Given the description of an element on the screen output the (x, y) to click on. 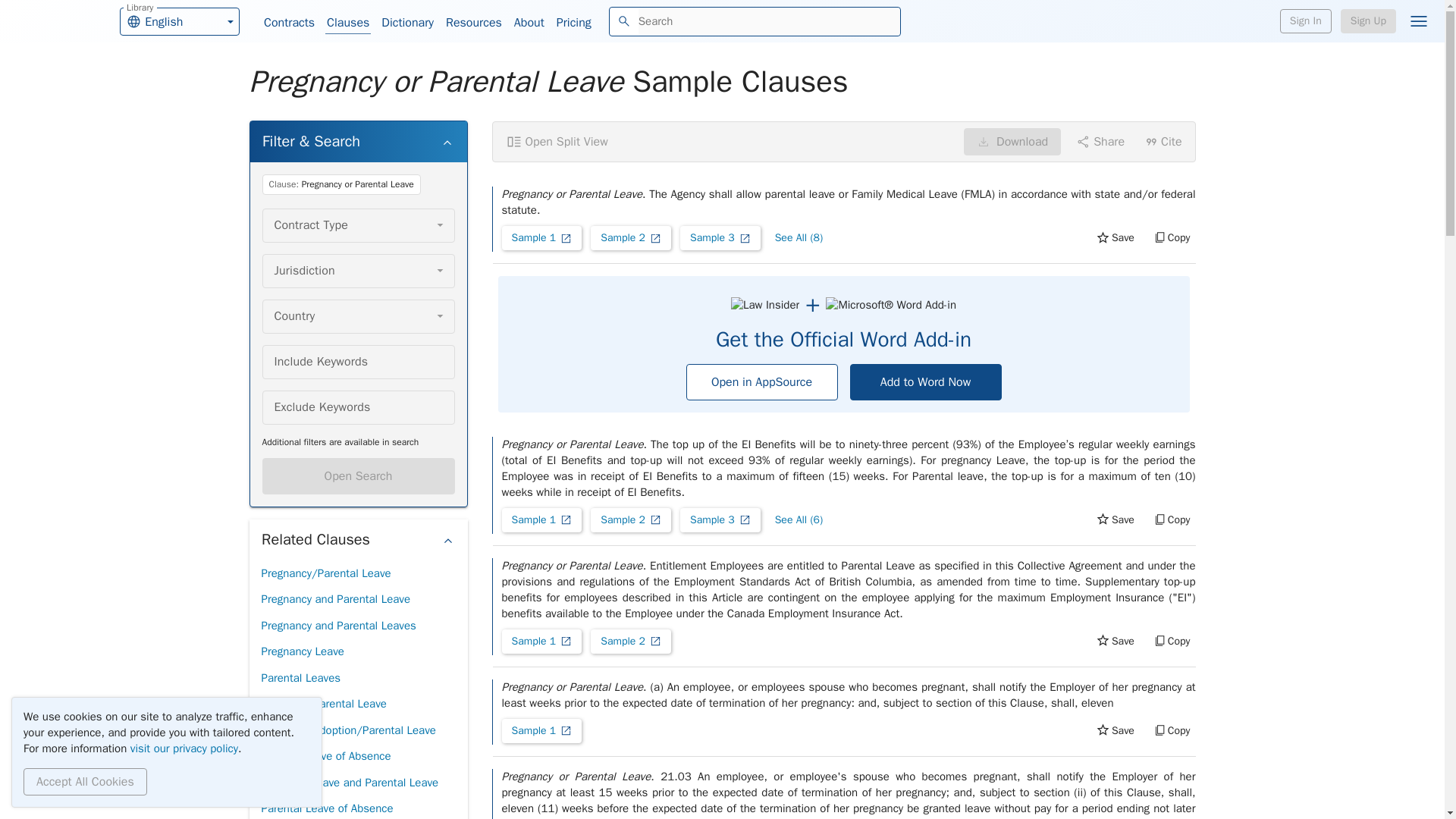
Accept All Cookies (85, 781)
Open Search (358, 475)
Pregnancy and Parental Leaves (337, 625)
Resources (473, 23)
Contracts (288, 23)
visit our privacy policy (184, 748)
Sign Up (1368, 21)
Maternity Leave and Parental Leave (349, 782)
Pregnancy Leave (301, 651)
Parental Leaves (300, 678)
